Given the description of an element on the screen output the (x, y) to click on. 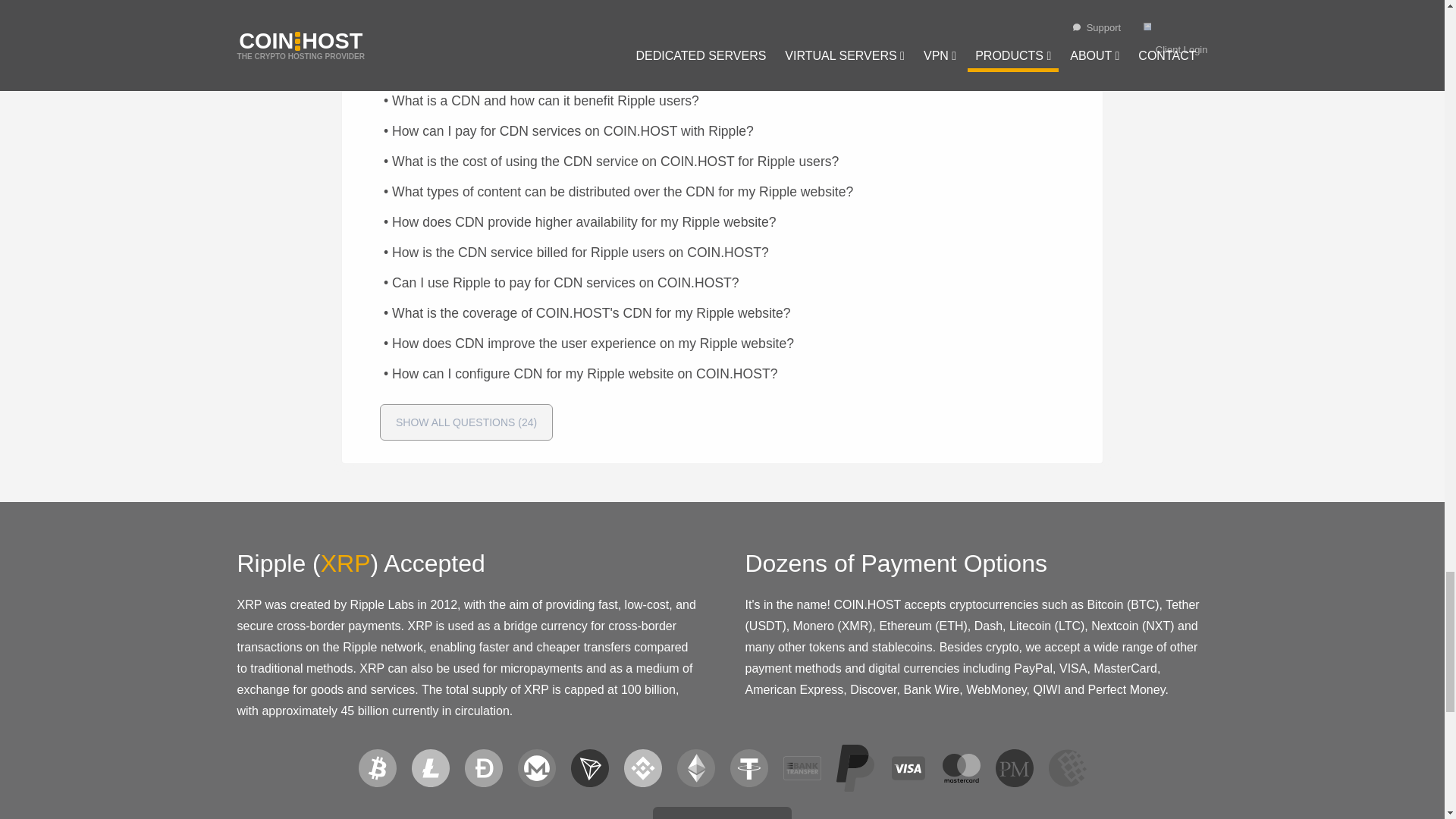
MasterCard accepted (960, 767)
Monero accepted (535, 768)
Tron accepted (589, 768)
Ethereum accepted (695, 768)
Tether USDT accepted (748, 768)
VISA accepted (907, 768)
Perfect Money accepted (1013, 768)
Binance coin accepted (642, 768)
Dogecoin accepted (483, 768)
WebMoney accepted (1067, 768)
